Given the description of an element on the screen output the (x, y) to click on. 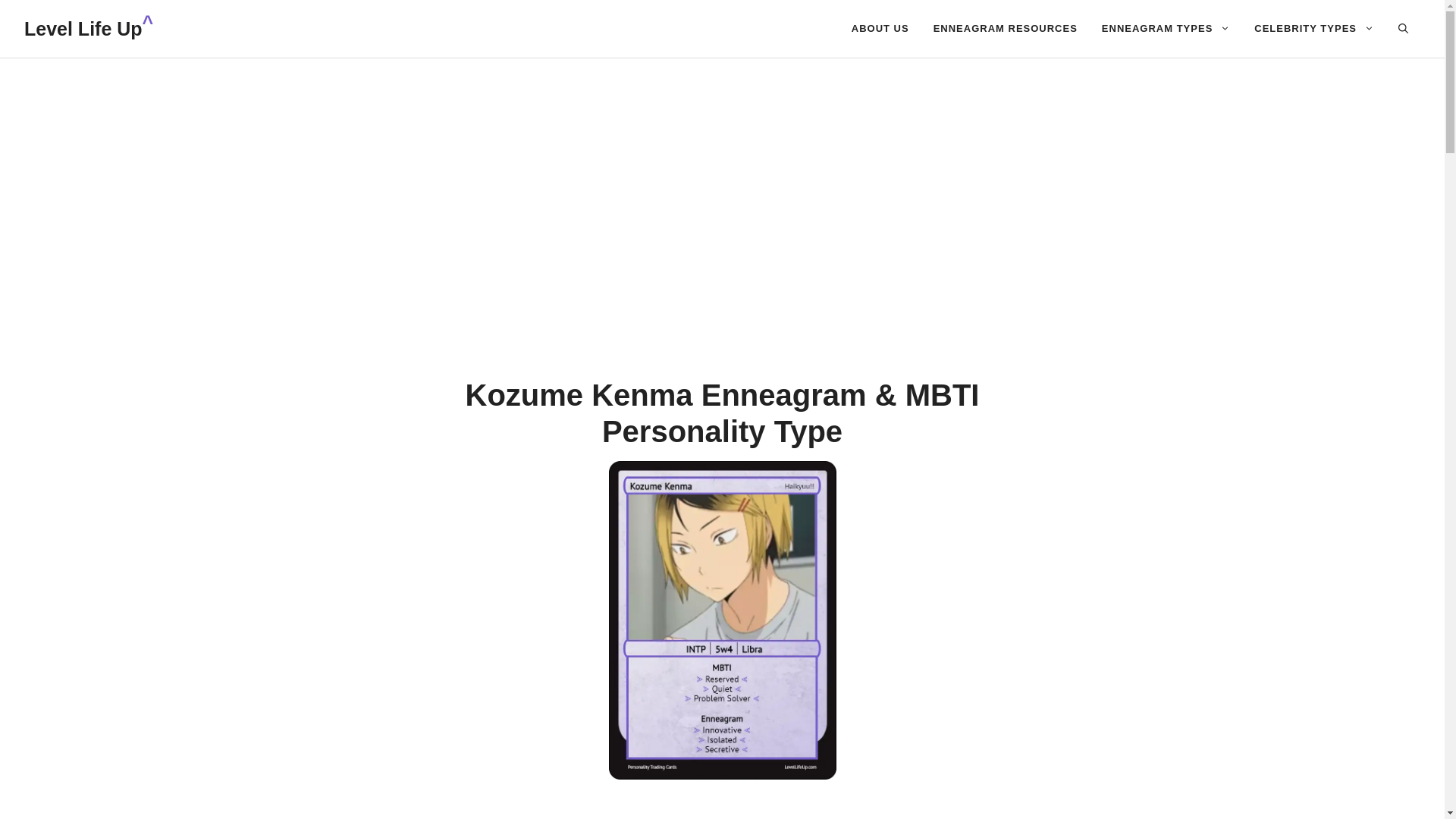
ENNEAGRAM RESOURCES (1005, 28)
Level Life Up (83, 28)
ABOUT US (880, 28)
ENNEAGRAM TYPES (1165, 28)
CELEBRITY TYPES (1313, 28)
